Given the description of an element on the screen output the (x, y) to click on. 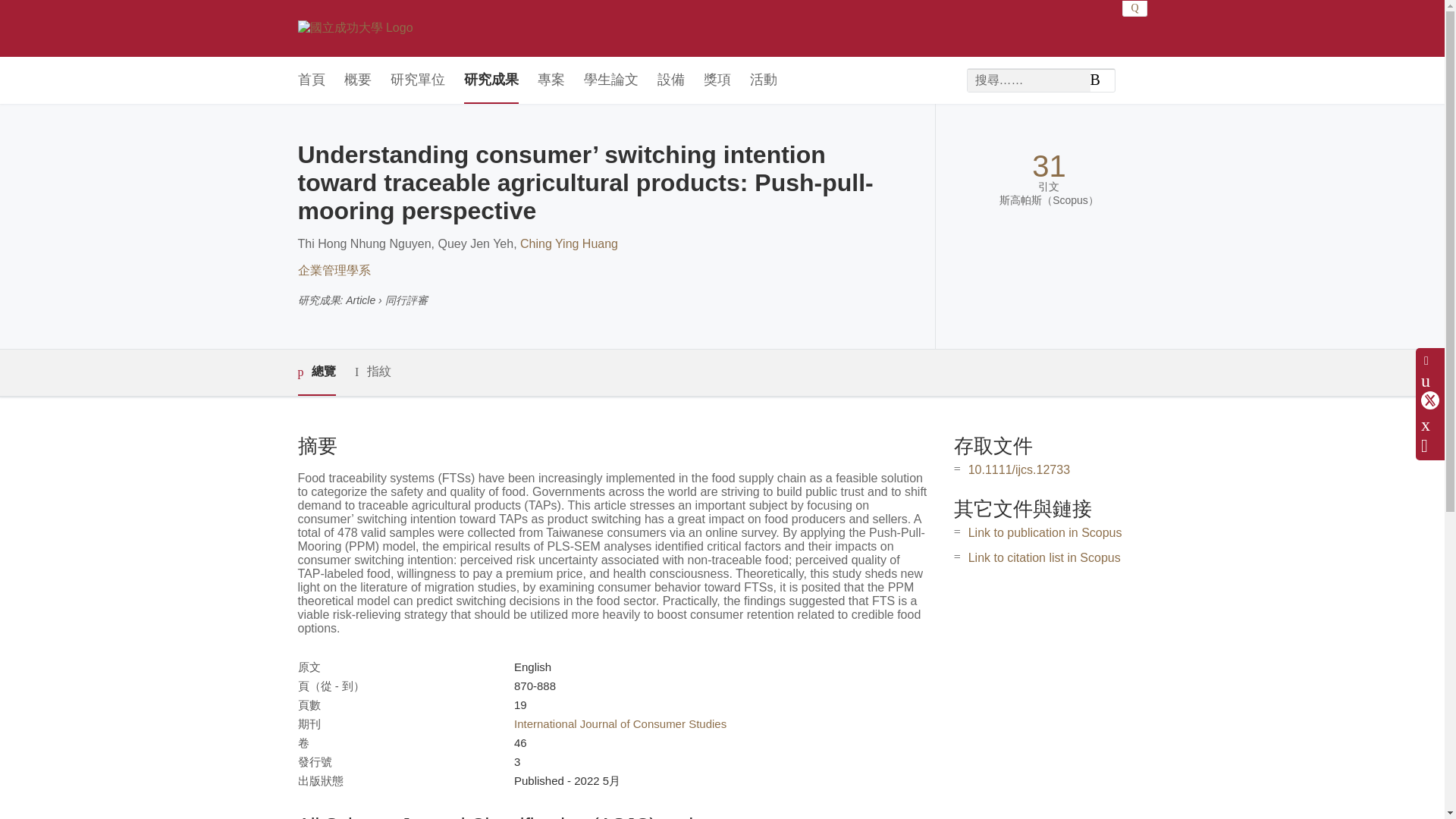
International Journal of Consumer Studies (619, 723)
Link to publication in Scopus (1045, 532)
Link to citation list in Scopus (1044, 557)
Ching Ying Huang (568, 243)
31 (1048, 166)
